Given the description of an element on the screen output the (x, y) to click on. 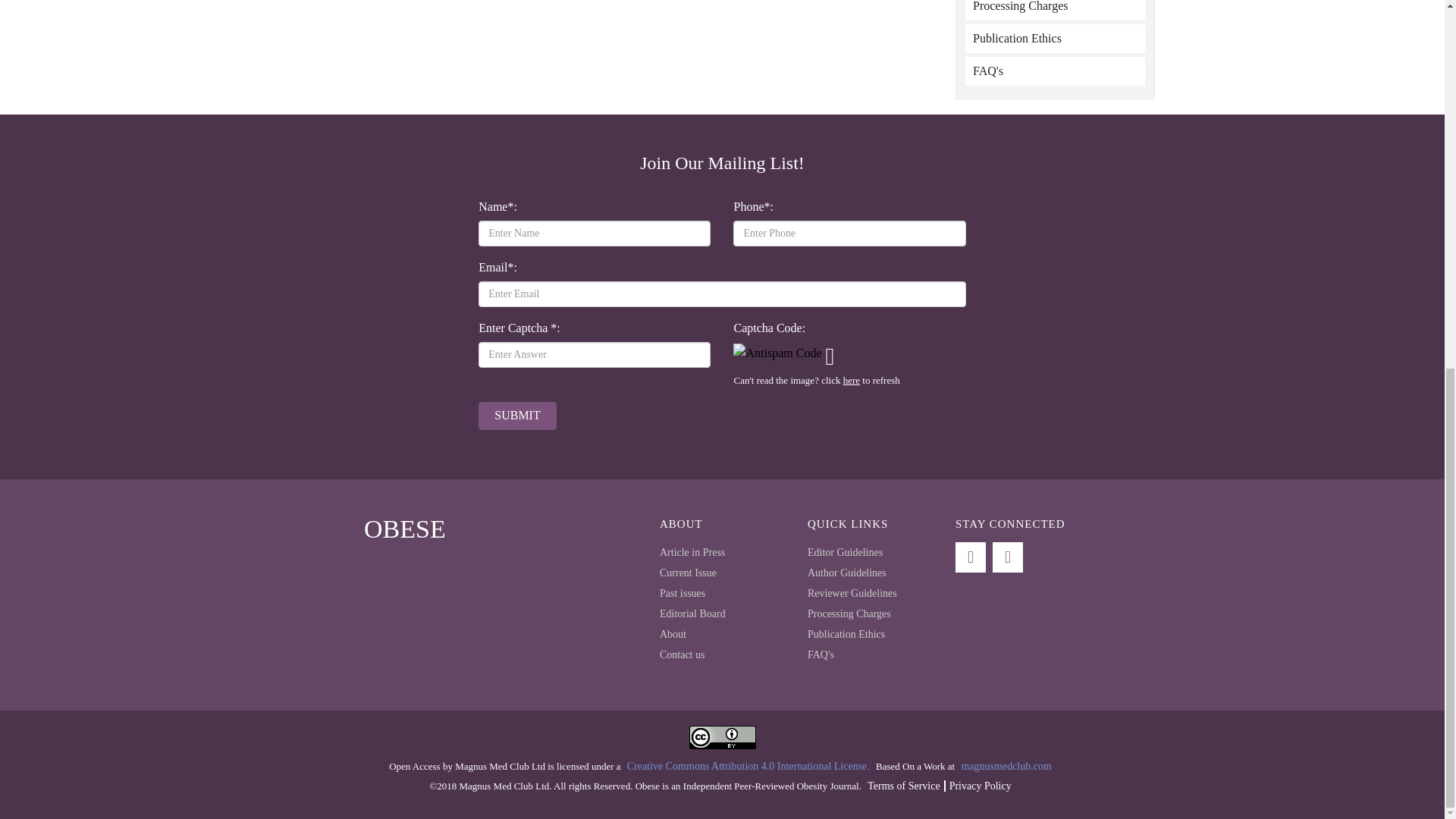
About (672, 633)
Current Issue (687, 572)
SUBMIT (517, 415)
Publication Ethics (1054, 38)
Processing Charges (1054, 10)
FAQ's (1054, 70)
Contact us (681, 654)
Past issues (681, 593)
here (851, 379)
Editorial Board (692, 613)
